Given the description of an element on the screen output the (x, y) to click on. 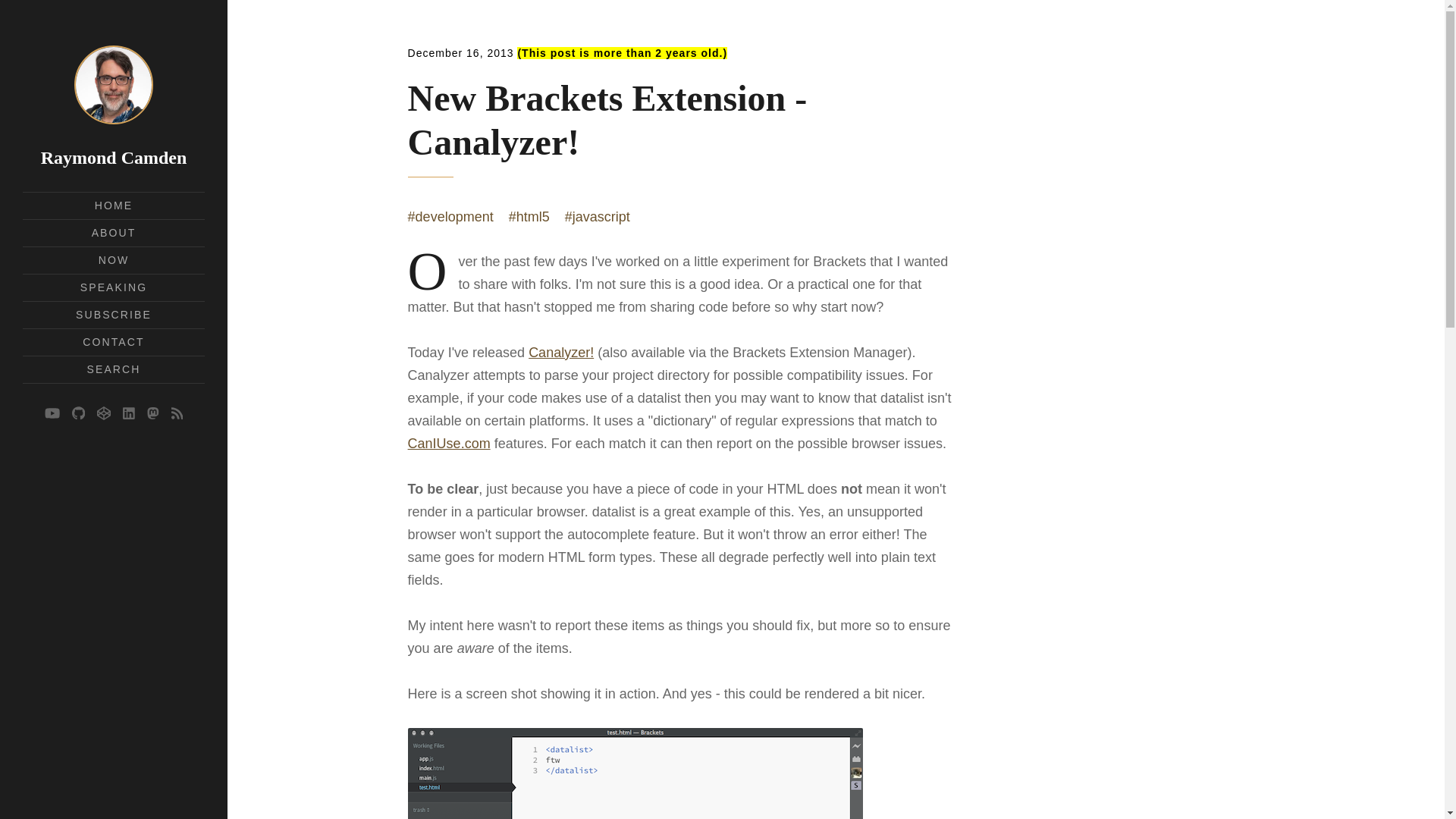
CanIUse.com (448, 443)
HOME (113, 205)
development (450, 217)
NOW (114, 259)
SEARCH (114, 369)
SPEAKING (113, 287)
Raymond Camden (113, 157)
SUBSCRIBE (113, 314)
ABOUT (113, 232)
html5 (529, 217)
